Given the description of an element on the screen output the (x, y) to click on. 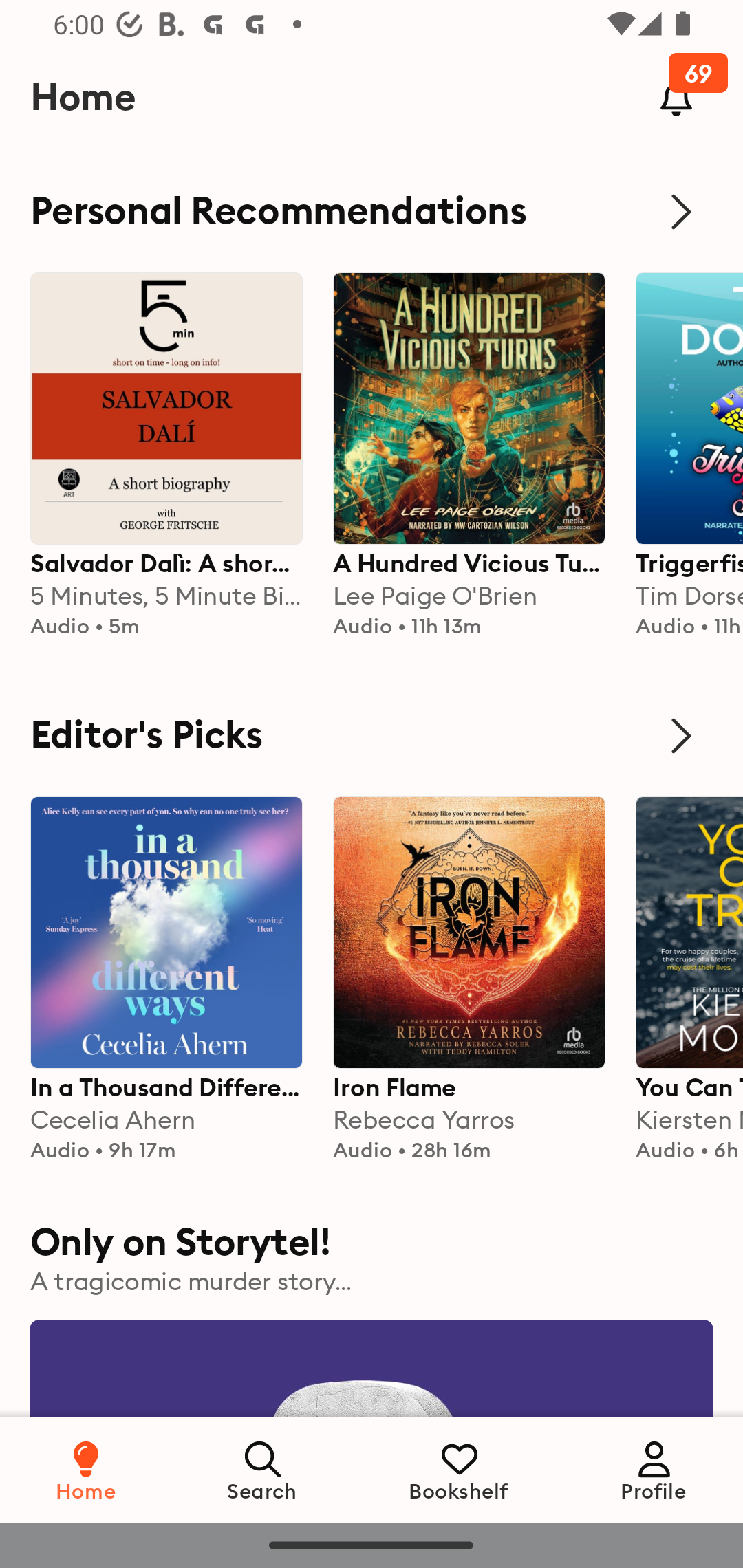
Personal Recommendations (371, 211)
Editor's Picks (371, 735)
Home (85, 1468)
Search (262, 1468)
Bookshelf (458, 1468)
Profile (653, 1468)
